Given the description of an element on the screen output the (x, y) to click on. 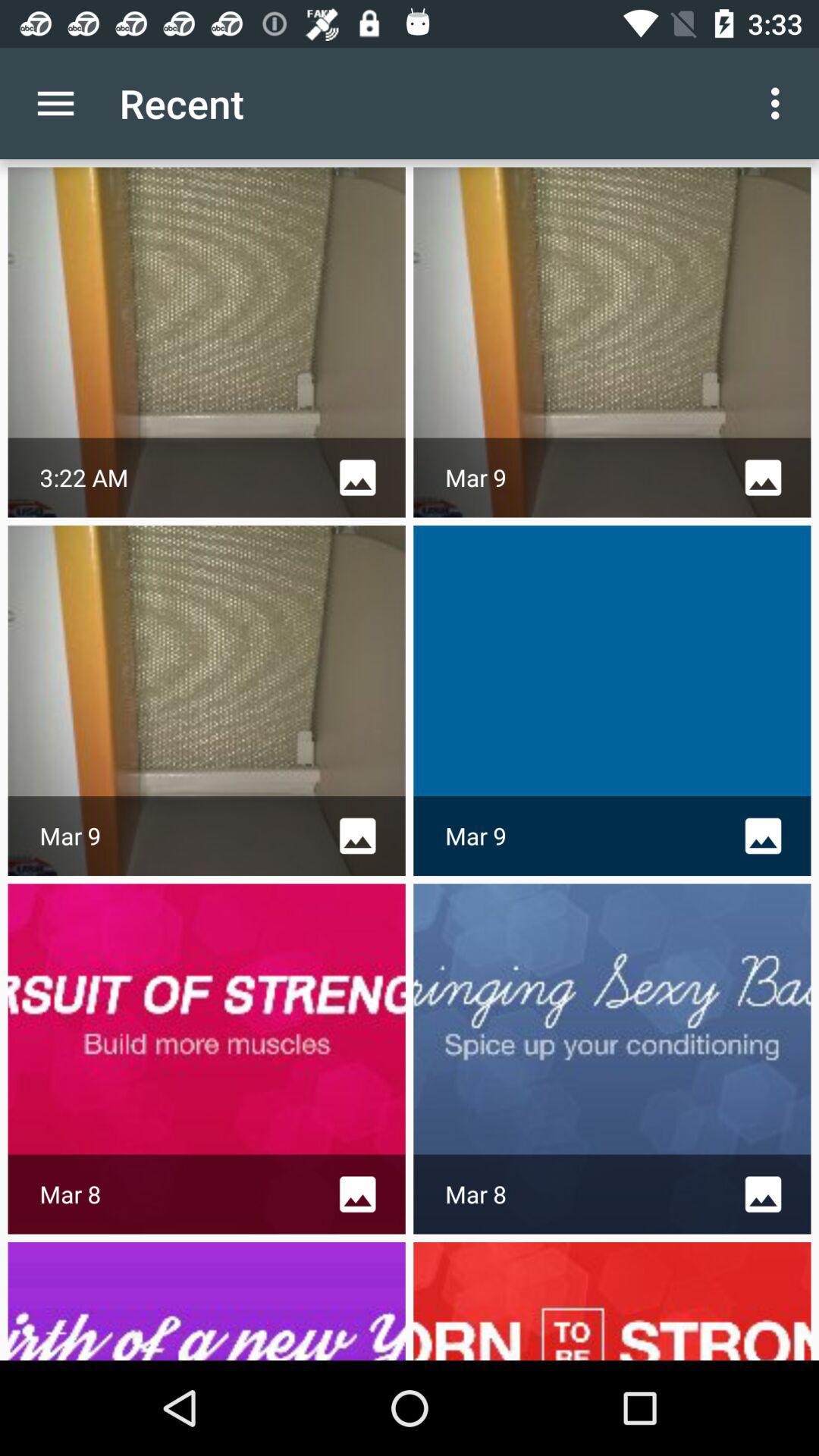
launch icon to the left of the recent app (55, 103)
